Given the description of an element on the screen output the (x, y) to click on. 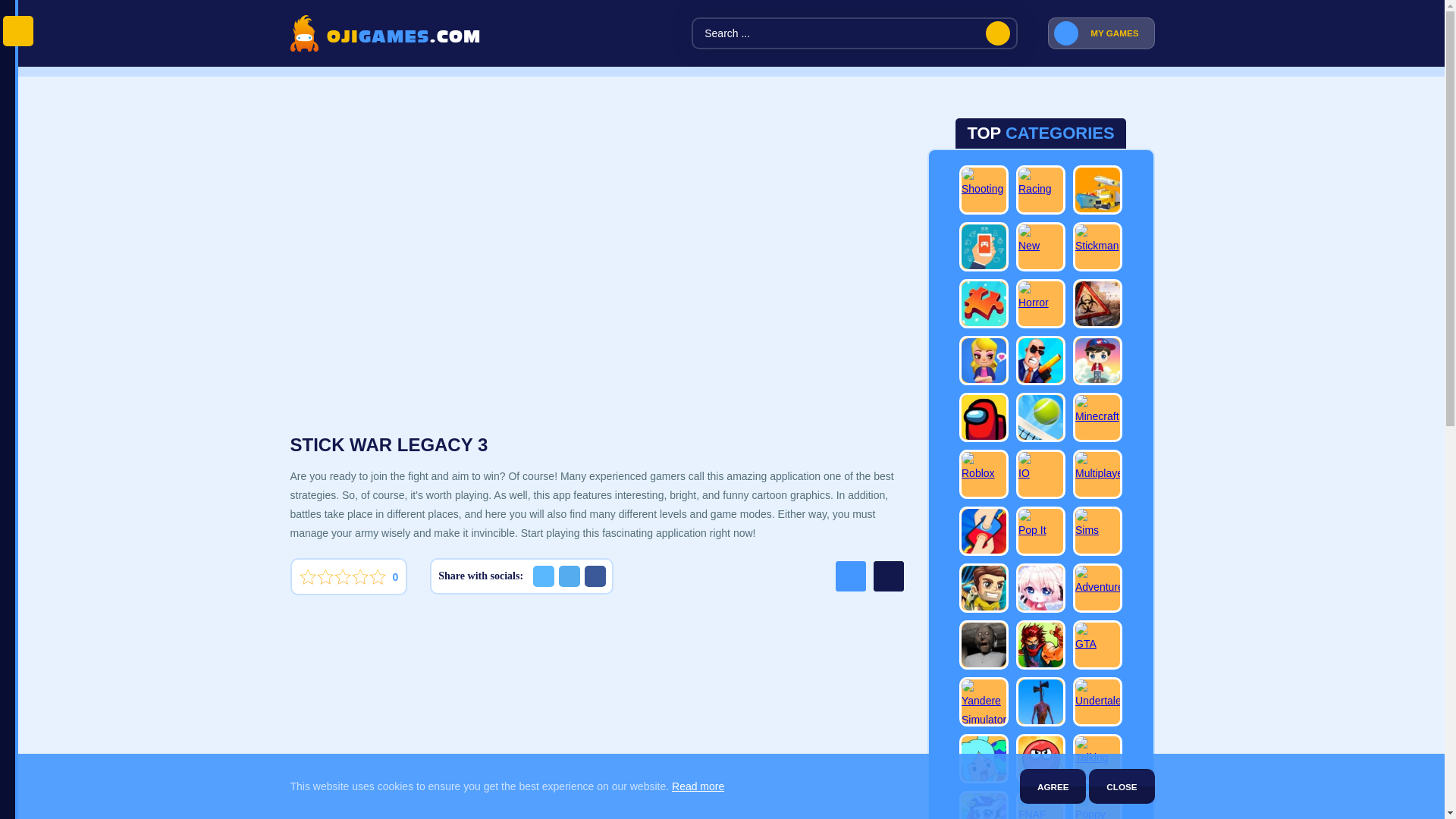
Search ... (854, 33)
Search ... (854, 33)
